Given the description of an element on the screen output the (x, y) to click on. 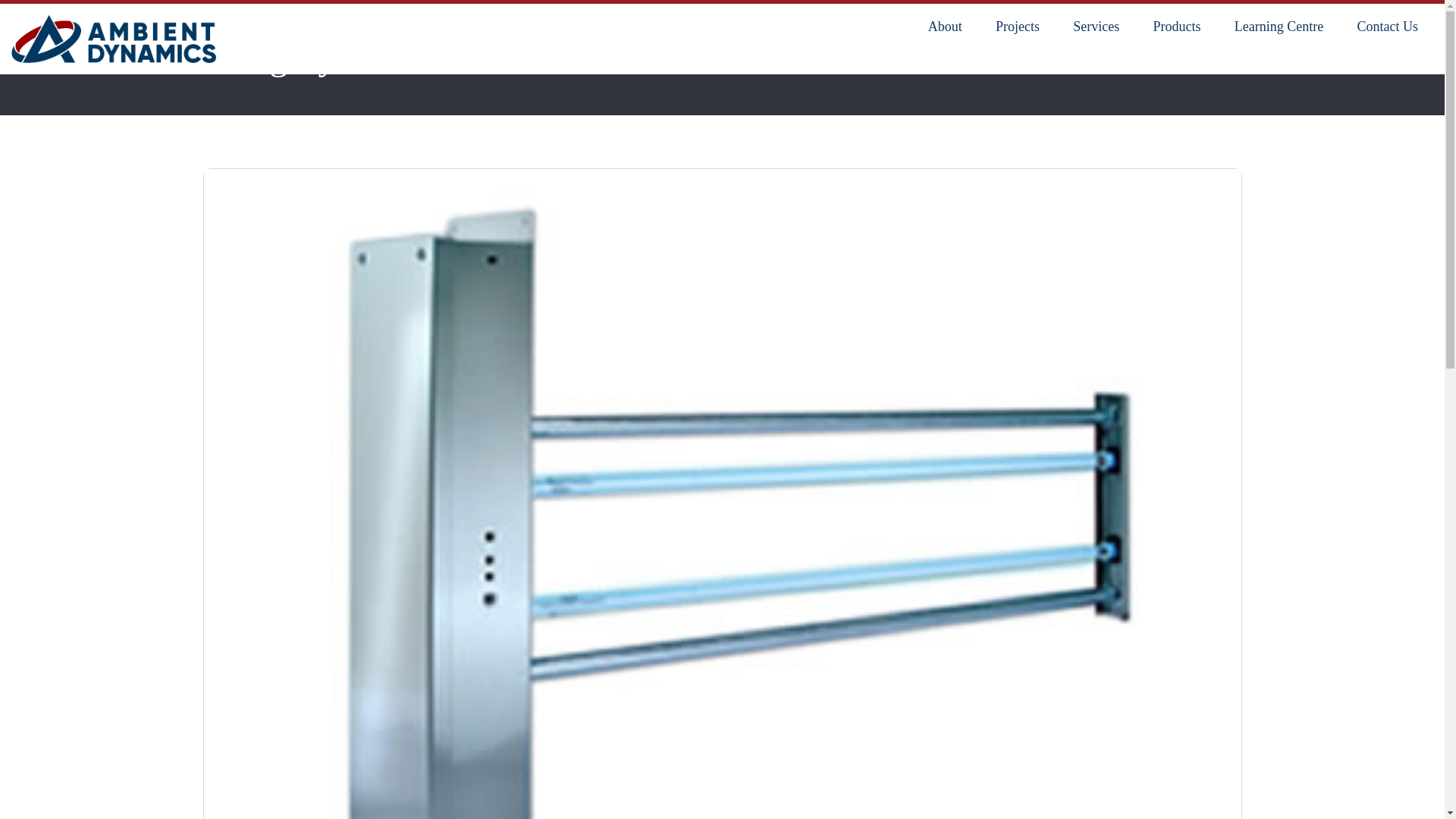
About Element type: text (945, 26)
Products Element type: text (1177, 26)
Learning Centre Element type: text (1278, 26)
Projects Element type: text (1017, 26)
Contact Us Element type: text (1388, 26)
Services Element type: text (1095, 26)
